Given the description of an element on the screen output the (x, y) to click on. 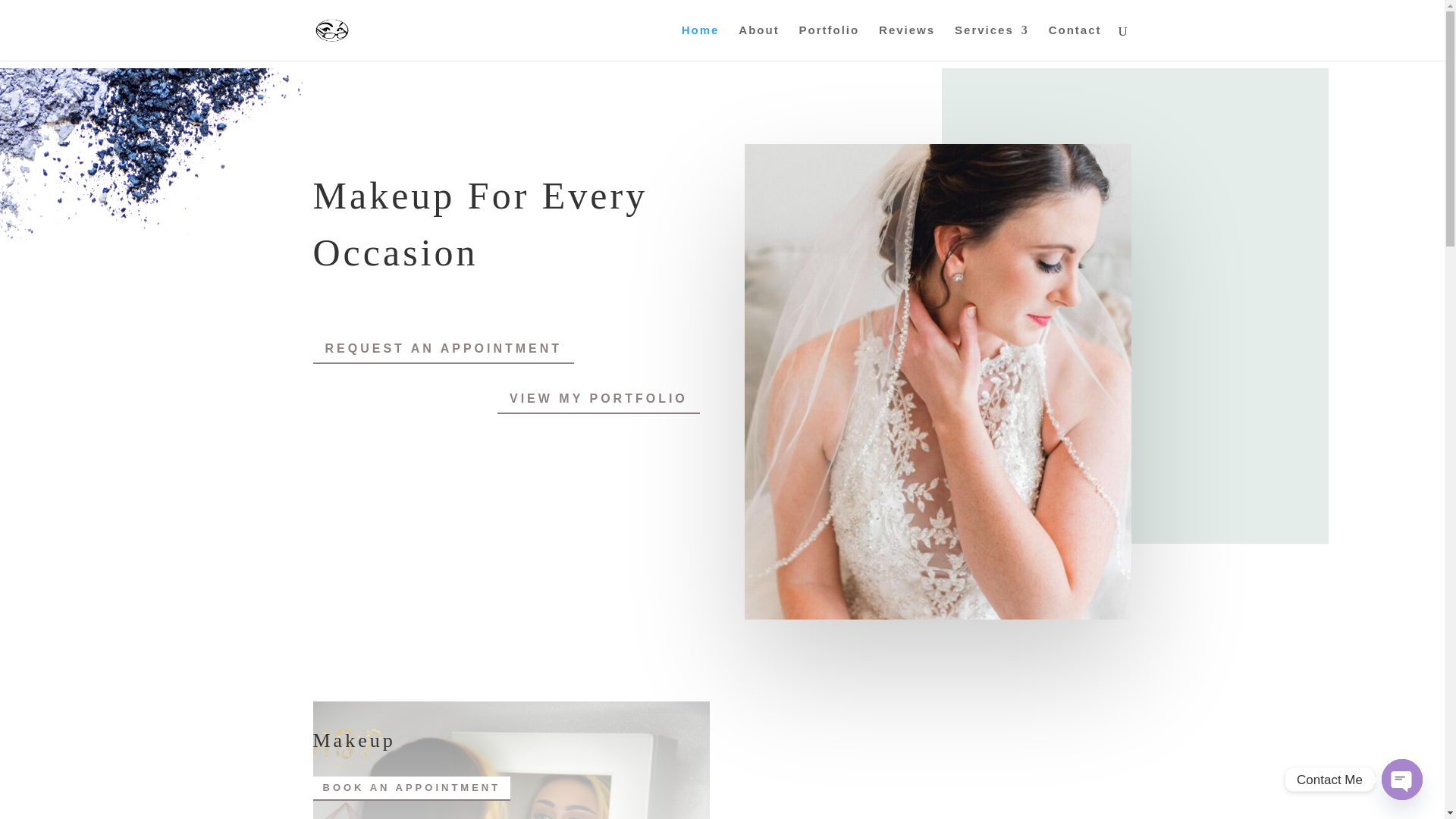
Contact (1075, 42)
Portfolio (829, 42)
Home (700, 42)
Reviews (906, 42)
Services (992, 42)
VIEW MY PORTFOLIO (598, 398)
REQUEST AN APPOINTMENT (443, 348)
BOOK AN APPOINTMENT (412, 787)
About (758, 42)
